Given the description of an element on the screen output the (x, y) to click on. 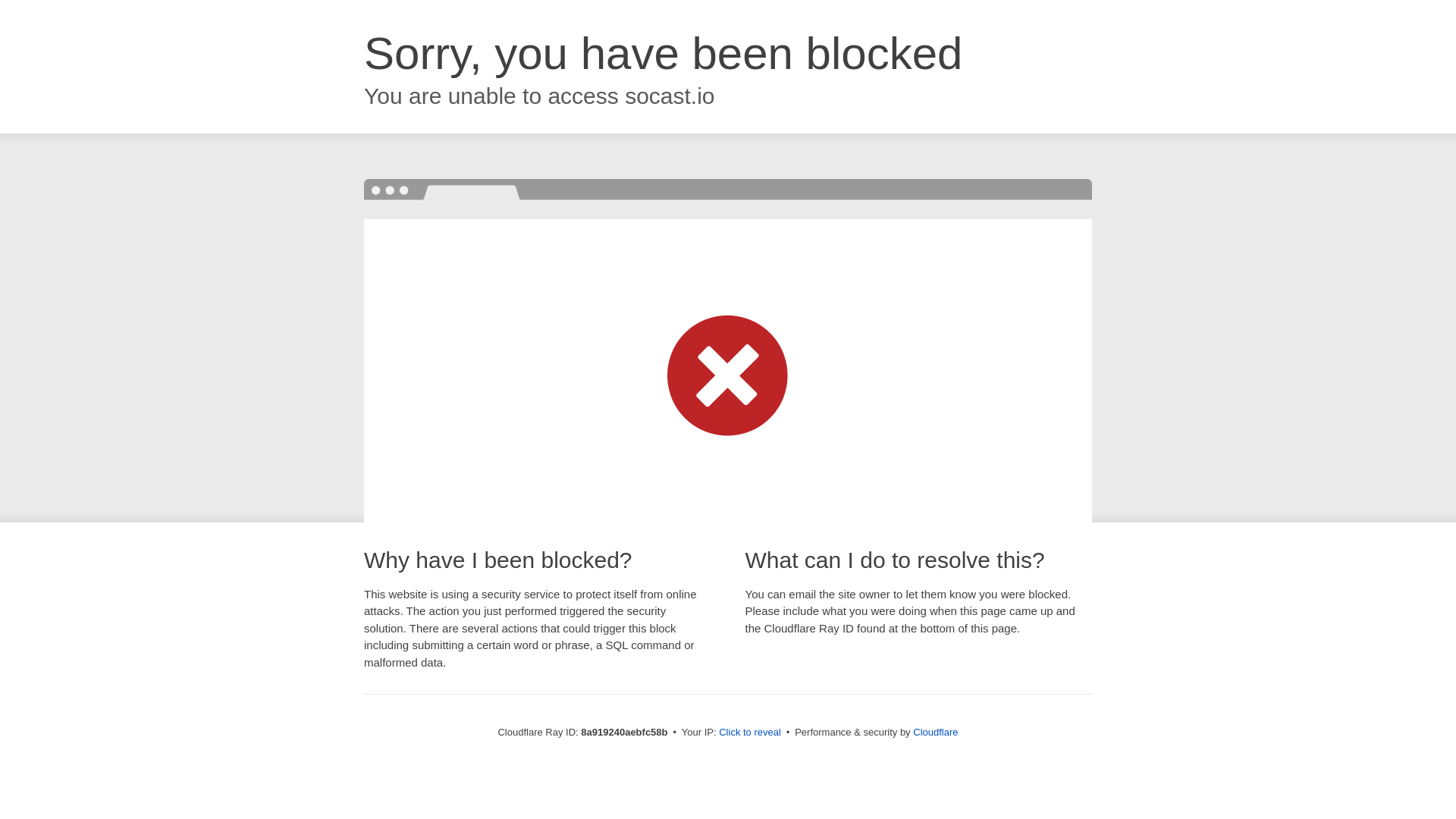
Click to reveal (749, 732)
Cloudflare (935, 731)
